Given the description of an element on the screen output the (x, y) to click on. 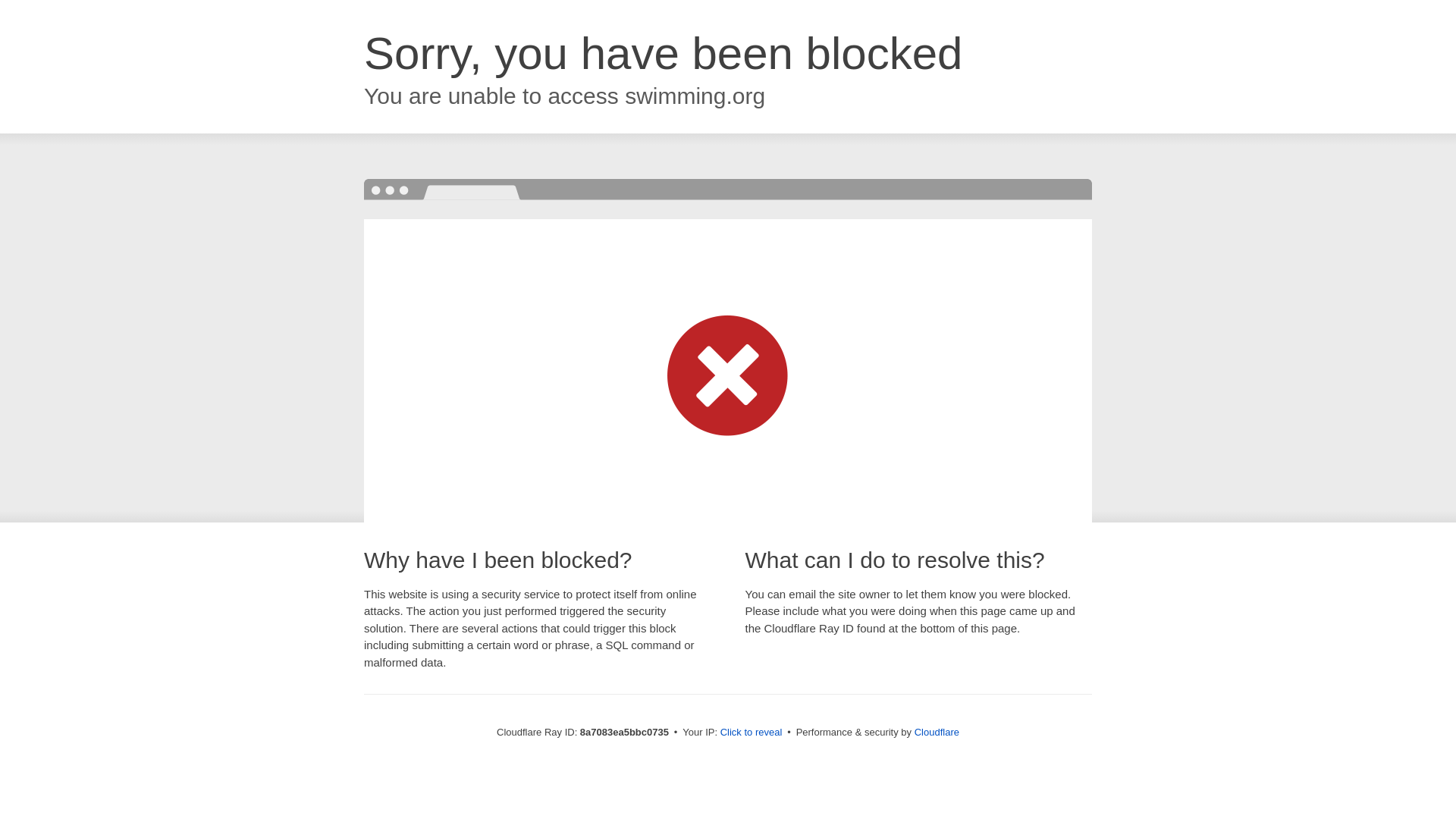
Click to reveal (751, 732)
Cloudflare (936, 731)
